Given the description of an element on the screen output the (x, y) to click on. 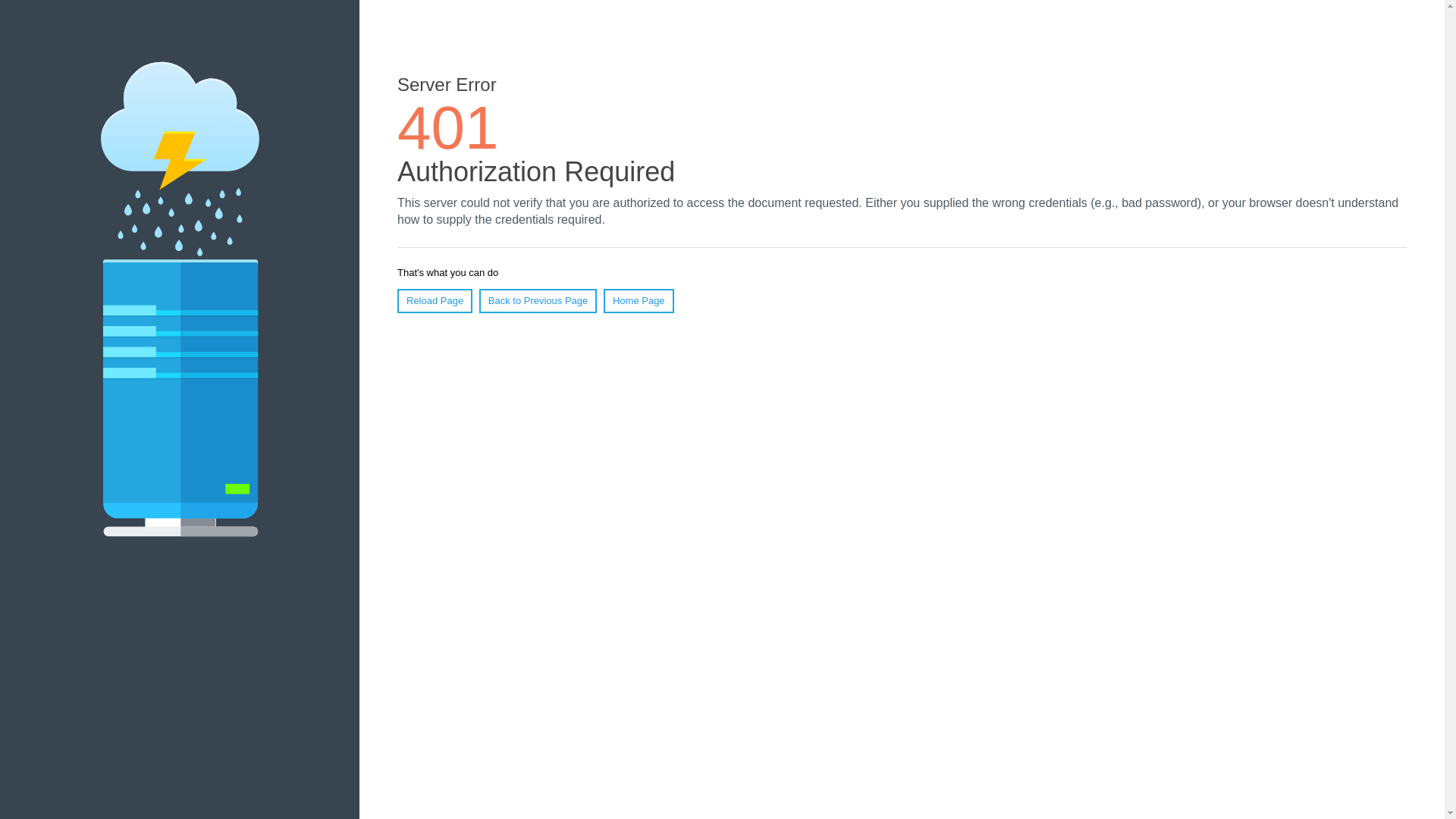
Back to Previous Page Element type: text (538, 300)
Reload Page Element type: text (434, 300)
Home Page Element type: text (638, 300)
